Given the description of an element on the screen output the (x, y) to click on. 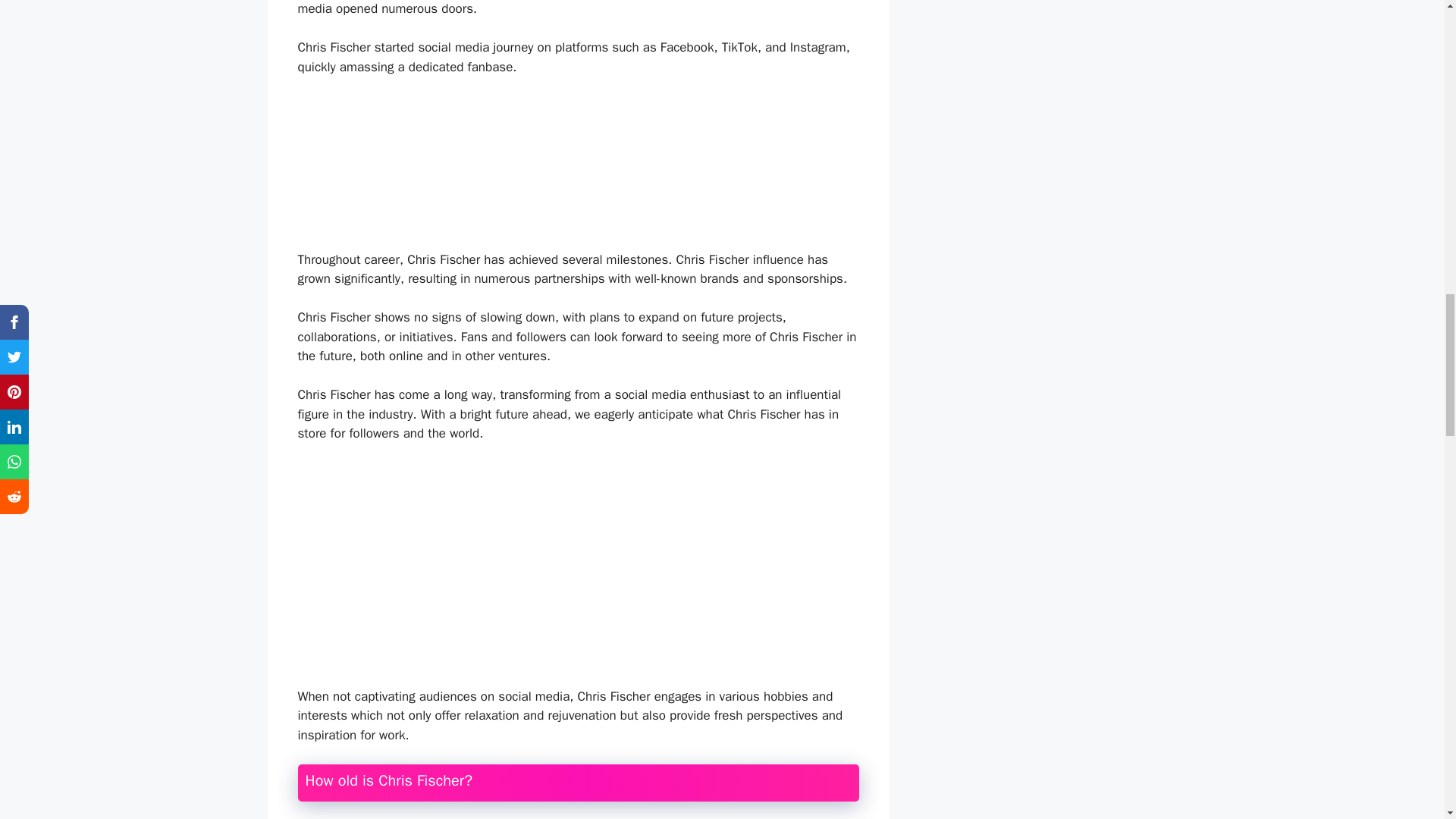
Advertisement (576, 568)
Advertisement (592, 170)
